Given the description of an element on the screen output the (x, y) to click on. 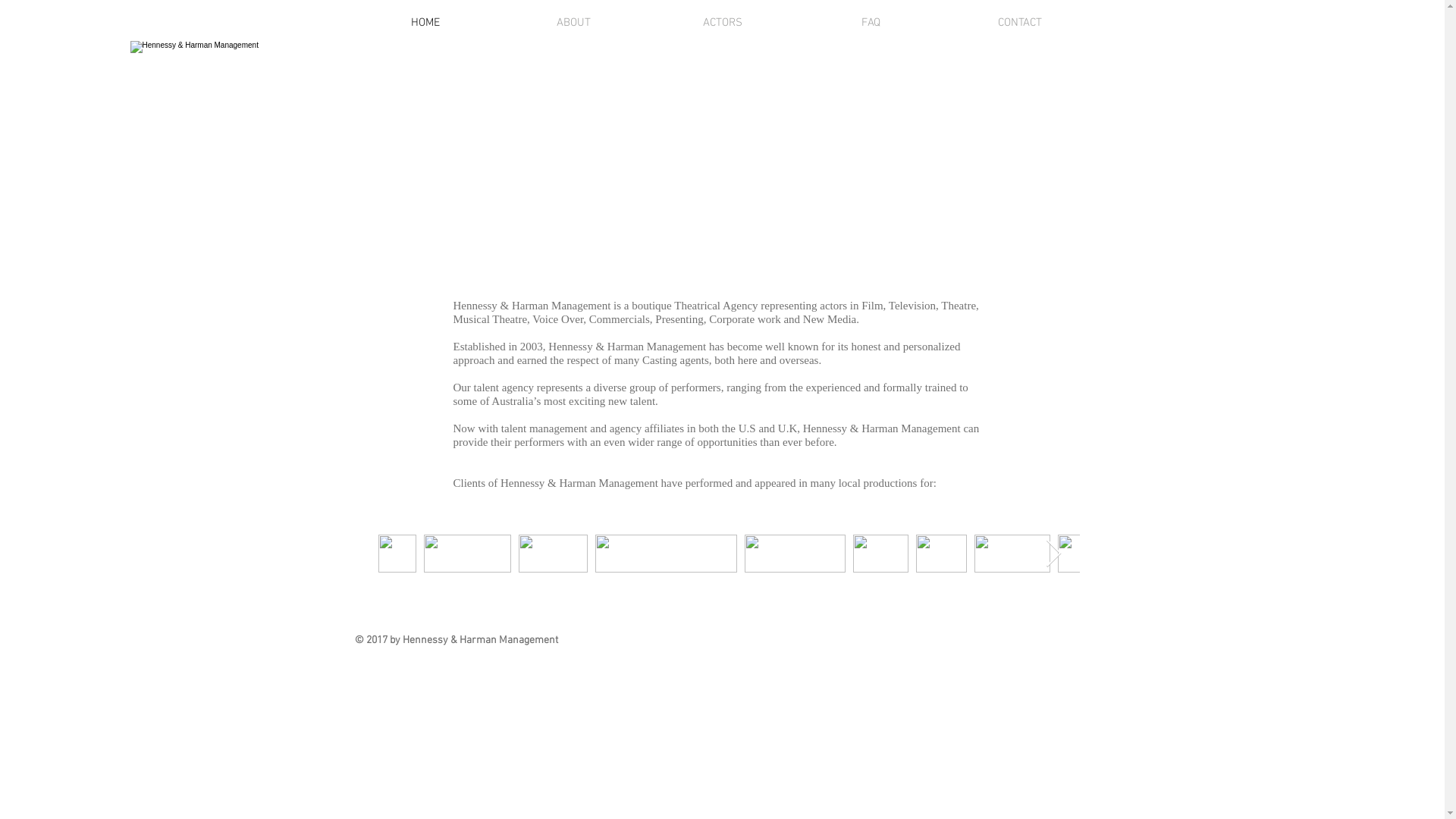
CONTACT Element type: text (1018, 22)
HOME Element type: text (424, 22)
ACTORS Element type: text (721, 22)
ABOUT Element type: text (572, 22)
FAQ Element type: text (870, 22)
